Given the description of an element on the screen output the (x, y) to click on. 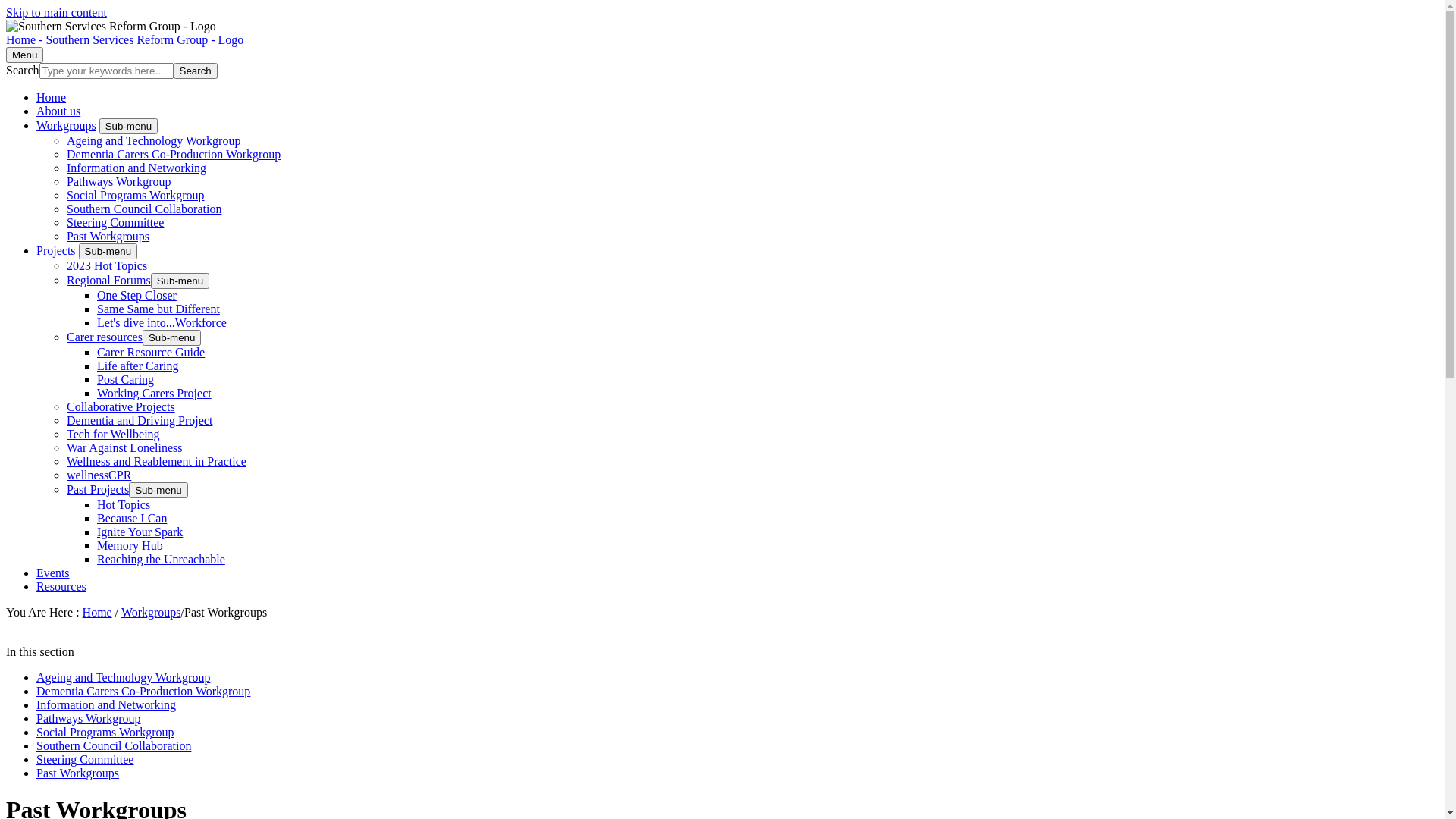
Sub-menu Element type: text (158, 490)
Post Caring Element type: text (125, 379)
Tech for Wellbeing Element type: text (113, 433)
wellnessCPR Element type: text (98, 474)
Regional Forums Element type: text (108, 279)
Social Programs Workgroup Element type: text (105, 731)
Past Projects Element type: text (97, 489)
About us Element type: text (58, 110)
Workgroups Element type: text (151, 611)
Past Workgroups Element type: text (77, 772)
Southern Council Collaboration Element type: text (113, 745)
Collaborative Projects Element type: text (120, 406)
Life after Caring Element type: text (137, 365)
One Step Closer Element type: text (136, 294)
Information and Networking Element type: text (136, 167)
Information and Networking Element type: text (105, 704)
Steering Committee Element type: text (114, 222)
Dementia Carers Co-Production Workgroup Element type: text (173, 153)
War Against Loneliness Element type: text (124, 447)
Hot Topics Element type: text (123, 504)
Same Same but Different Element type: text (158, 308)
Southern Council Collaboration Element type: text (143, 208)
Search Element type: text (195, 70)
Projects Element type: text (55, 250)
Home Element type: text (97, 611)
Because I Can Element type: text (131, 517)
Pathways Workgroup Element type: text (88, 718)
Sub-menu Element type: text (128, 126)
2023 Hot Topics Element type: text (106, 265)
Home - Southern Services Reform Group - Logo Element type: text (124, 39)
Let's dive into...Workforce Element type: text (161, 322)
Social Programs Workgroup Element type: text (135, 194)
Sub-menu Element type: text (108, 251)
Events Element type: text (52, 572)
Dementia Carers Co-Production Workgroup Element type: text (143, 690)
Ageing and Technology Workgroup Element type: text (123, 677)
Sub-menu Element type: text (171, 337)
Carer resources Element type: text (104, 336)
Past Workgroups Element type: text (107, 235)
Menu Element type: text (24, 54)
Memory Hub Element type: text (130, 545)
Workgroups Element type: text (66, 125)
Dementia and Driving Project Element type: text (139, 420)
Resources Element type: text (61, 586)
Steering Committee Element type: text (84, 759)
Ageing and Technology Workgroup Element type: text (153, 140)
Working Carers Project Element type: text (154, 392)
Home Element type: text (50, 97)
Skip to main content Element type: text (56, 12)
Ignite Your Spark Element type: text (139, 531)
Reaching the Unreachable Element type: text (161, 558)
Sub-menu Element type: text (180, 280)
Carer Resource Guide Element type: text (150, 351)
Wellness and Reablement in Practice Element type: text (156, 461)
Pathways Workgroup Element type: text (118, 181)
